Given the description of an element on the screen output the (x, y) to click on. 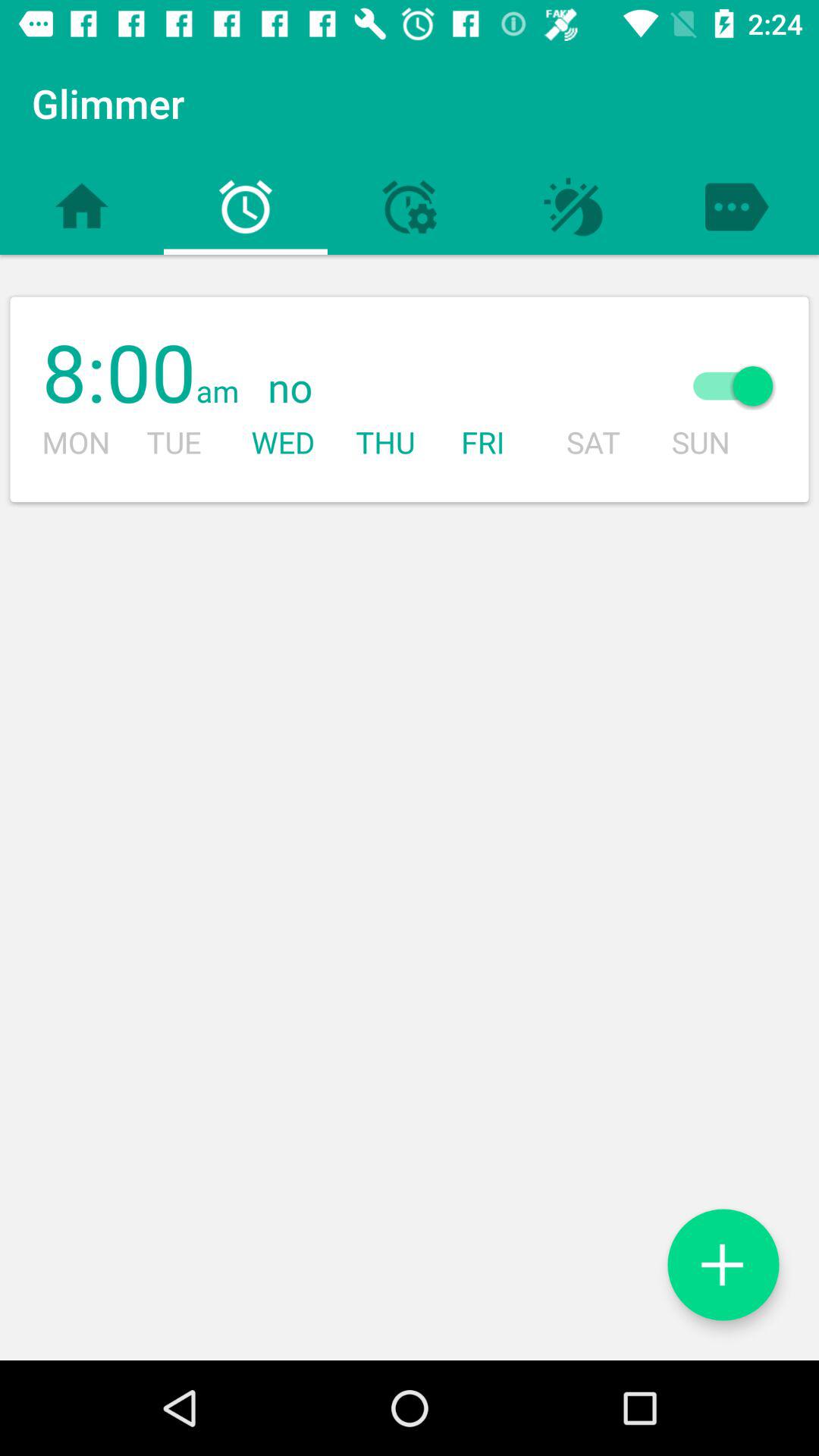
launch icon next to the sat icon (732, 386)
